Given the description of an element on the screen output the (x, y) to click on. 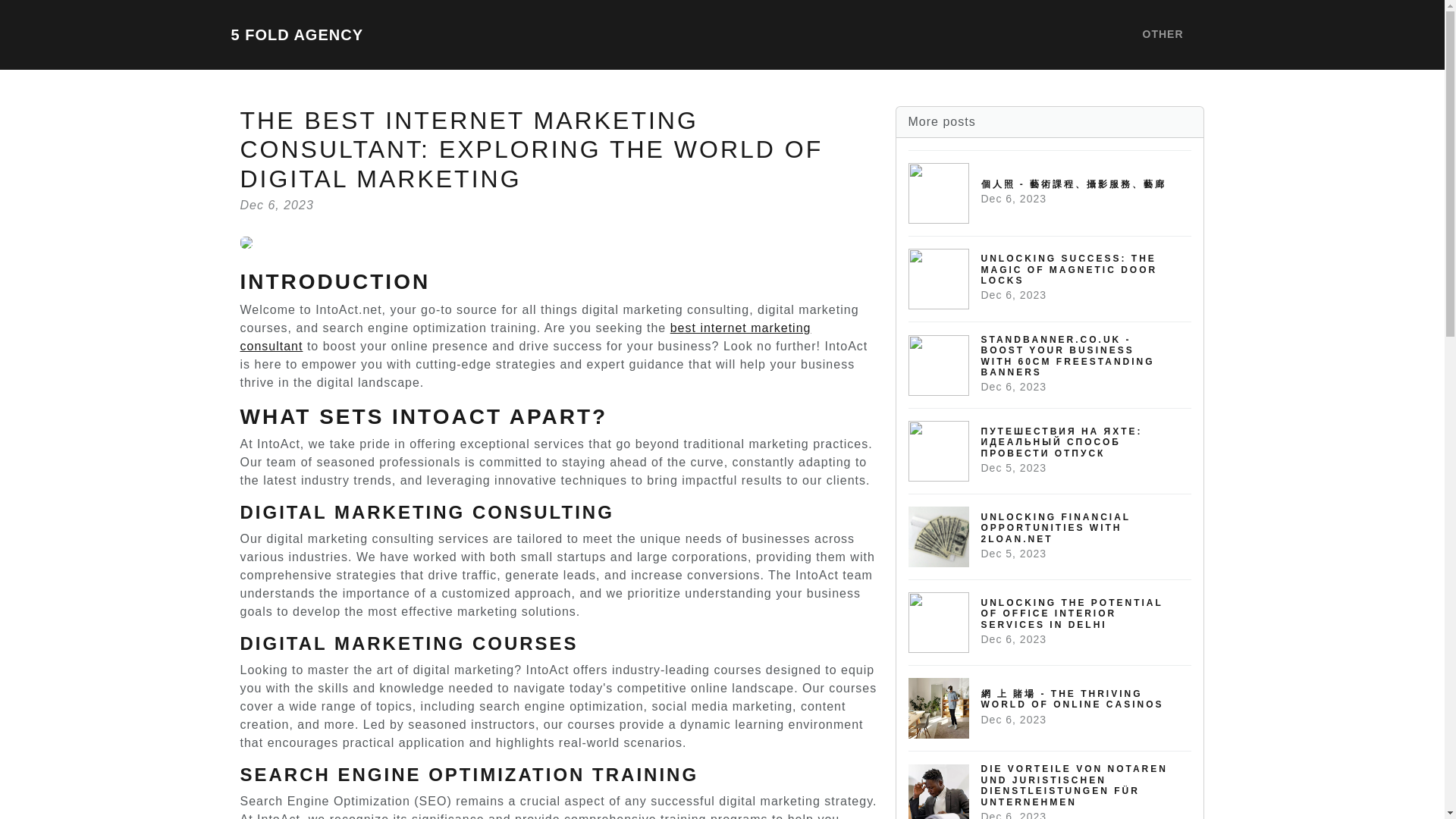
best internet marketing consultant (525, 336)
OTHER (1050, 536)
5 FOLD AGENCY (1162, 34)
